Given the description of an element on the screen output the (x, y) to click on. 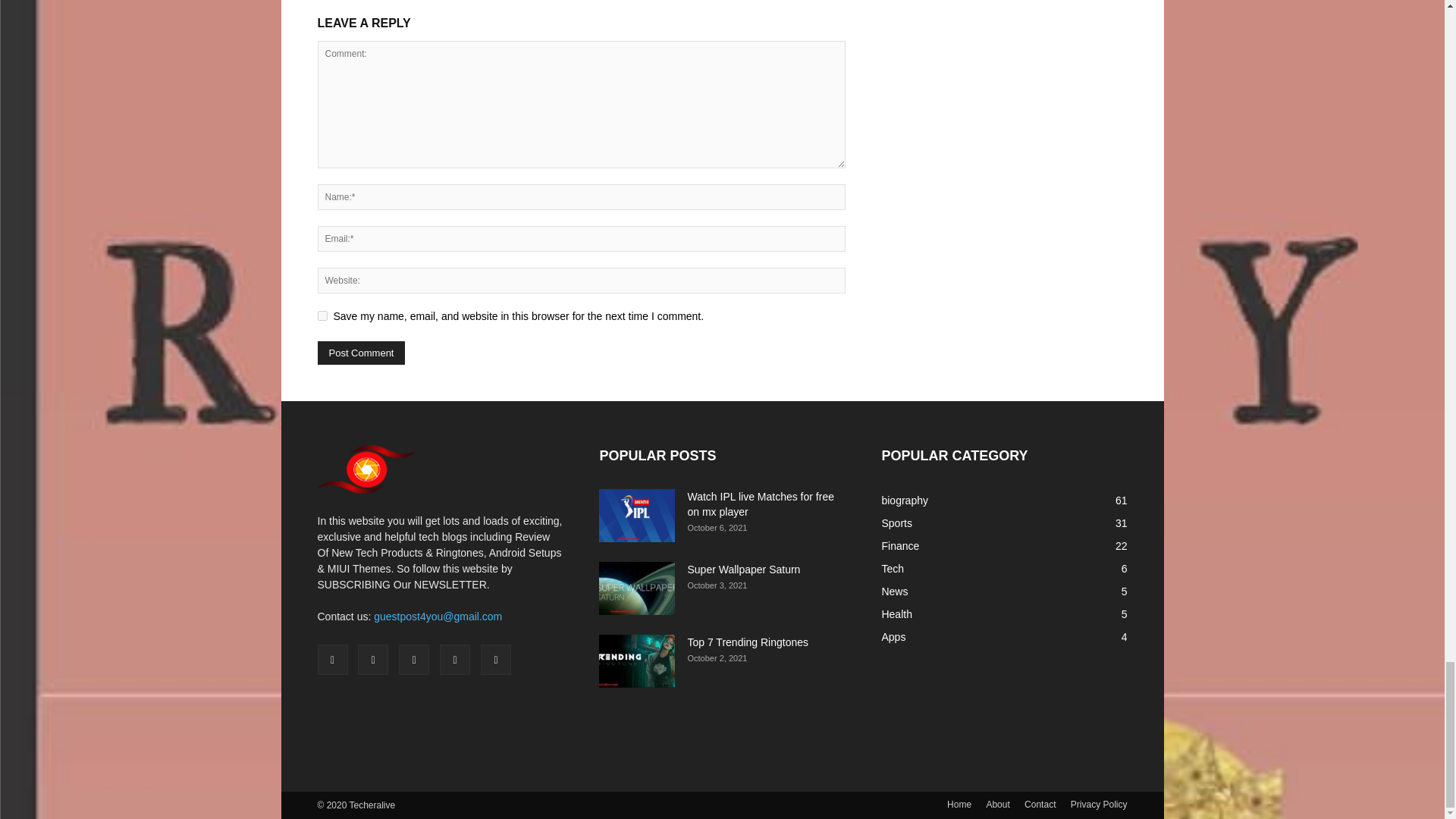
Post Comment (360, 352)
yes (321, 316)
